Given the description of an element on the screen output the (x, y) to click on. 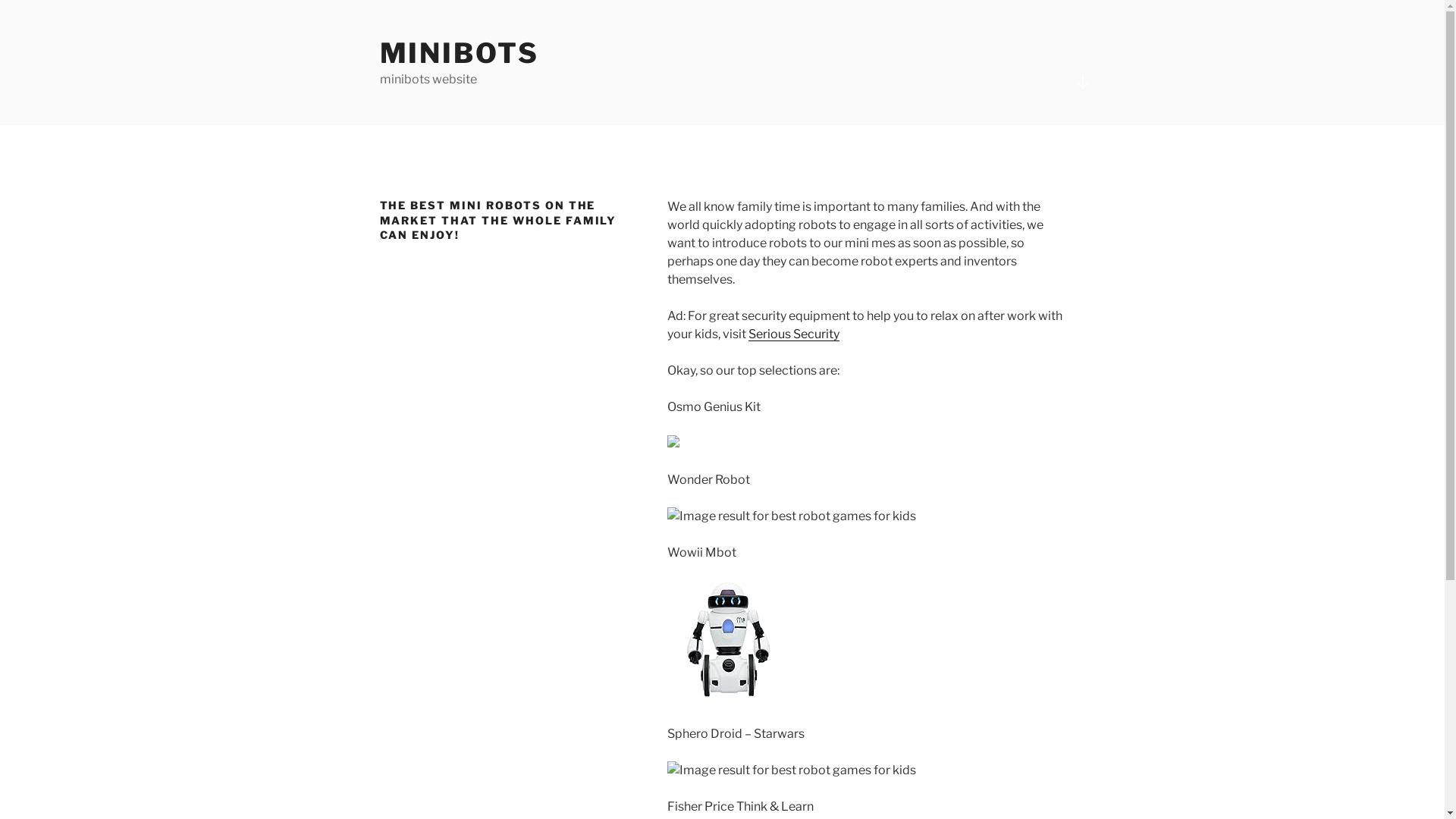
Skip to content Element type: text (0, 0)
Scroll down to content Element type: text (1082, 81)
Serious Security Element type: text (793, 333)
MINIBOTS Element type: text (458, 52)
